Given the description of an element on the screen output the (x, y) to click on. 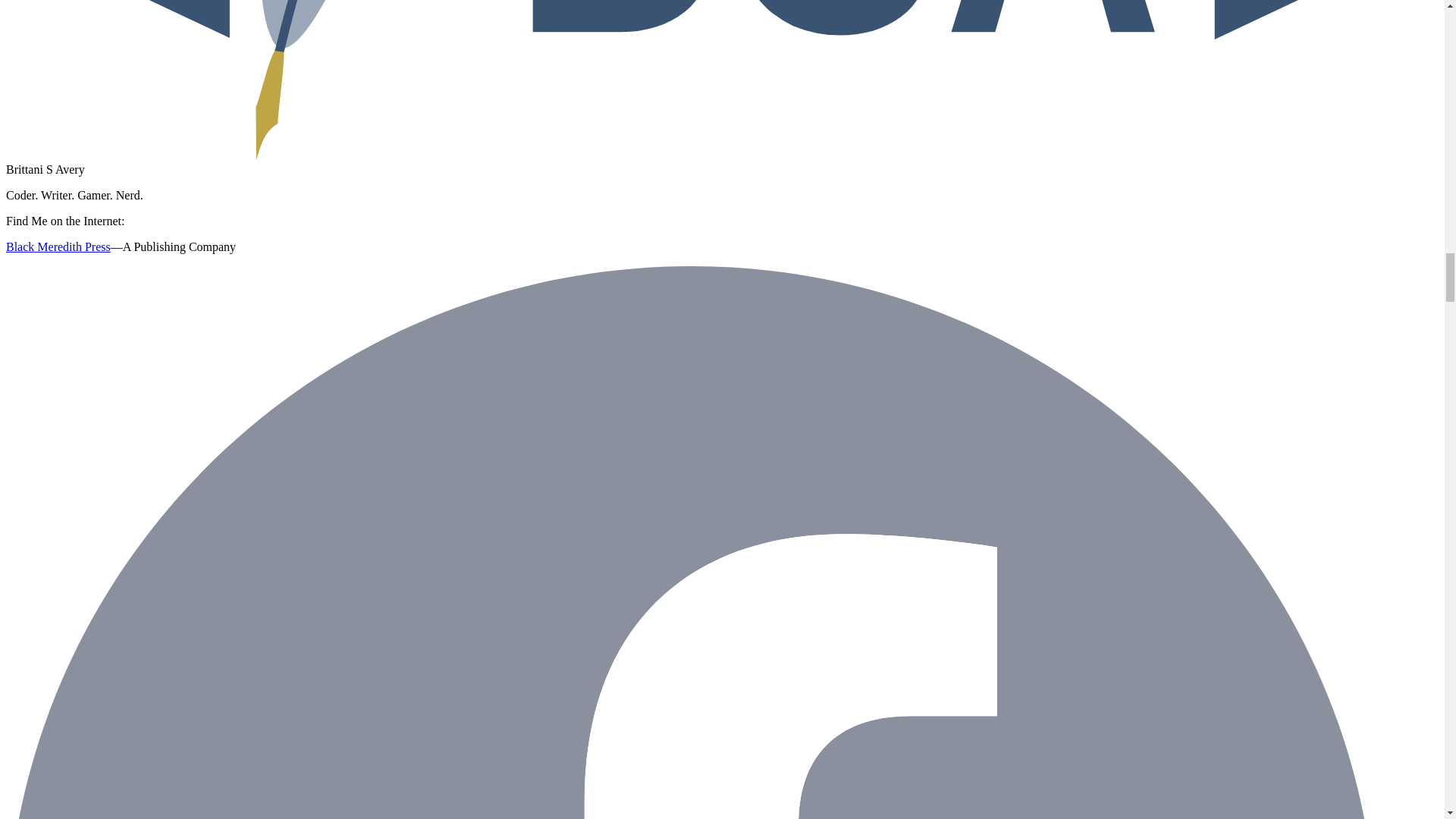
Black Meredith Press (57, 246)
